Given the description of an element on the screen output the (x, y) to click on. 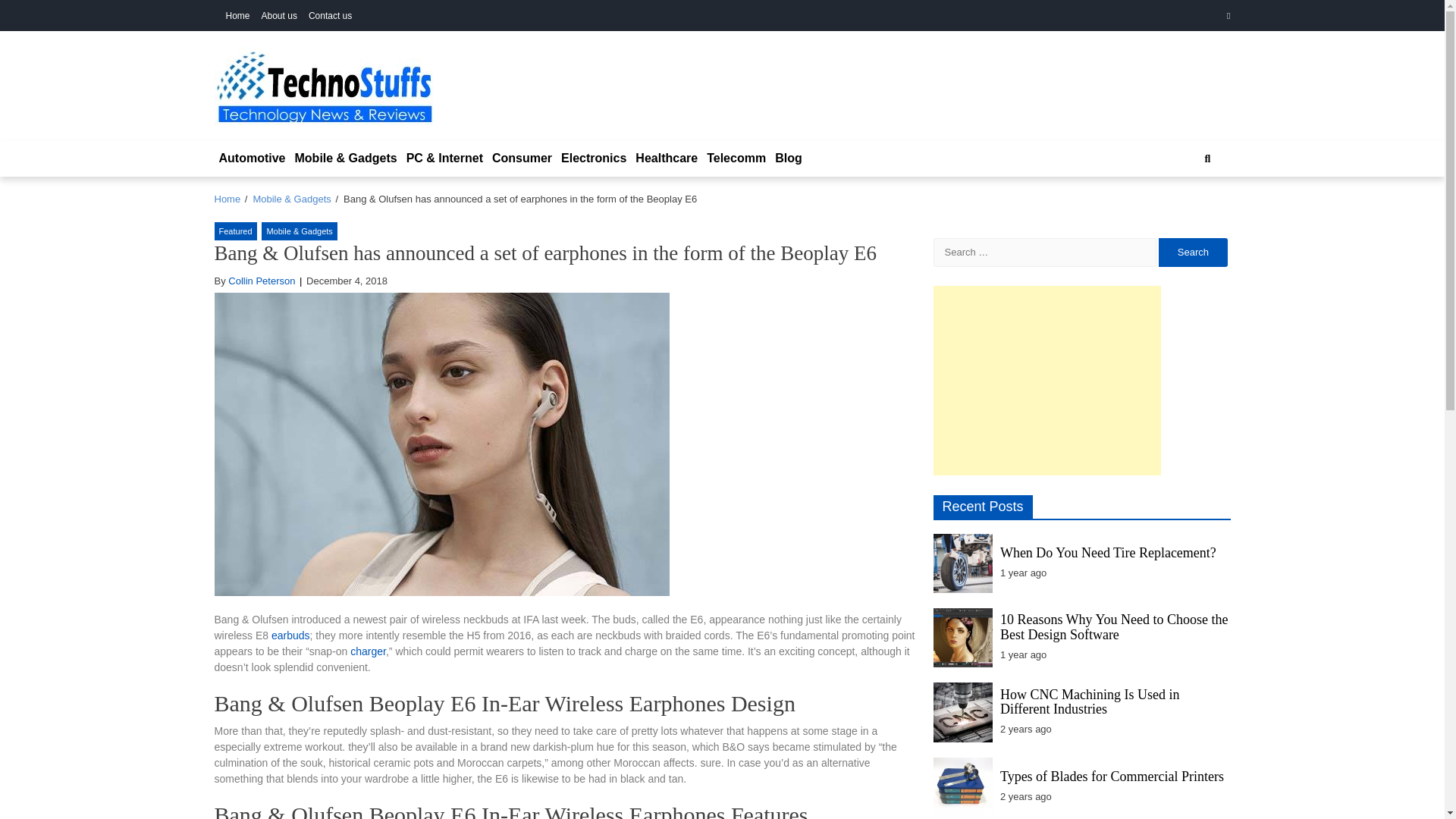
About us (279, 15)
Blog (788, 158)
Collin Peterson (261, 280)
Search (1192, 252)
Advertisement (1046, 380)
Telecomm (735, 158)
Home (227, 198)
earbuds (290, 635)
Search (1192, 252)
Automotive (251, 158)
charger (367, 651)
Search (1207, 158)
Search (1192, 252)
How CNC Machining Is Used in Different Industries (1089, 702)
Electronics (593, 158)
